Given the description of an element on the screen output the (x, y) to click on. 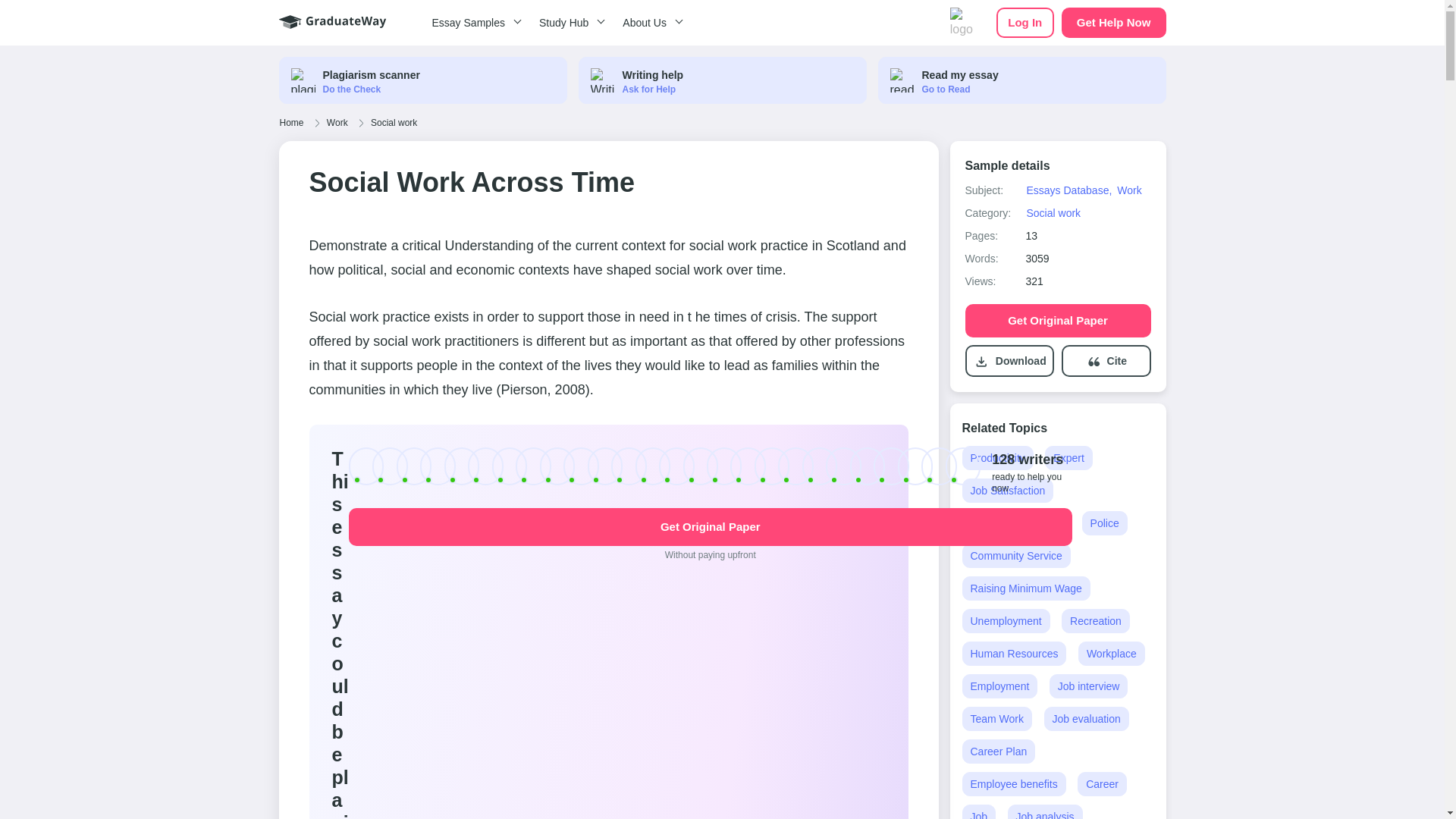
Social work (393, 122)
Essay Samples (473, 22)
Cite (1116, 360)
Study Hub (569, 22)
Essays Database, (1068, 190)
Work (1128, 190)
Home (291, 122)
Social work (1053, 213)
Work (337, 122)
About Us (649, 22)
